Given the description of an element on the screen output the (x, y) to click on. 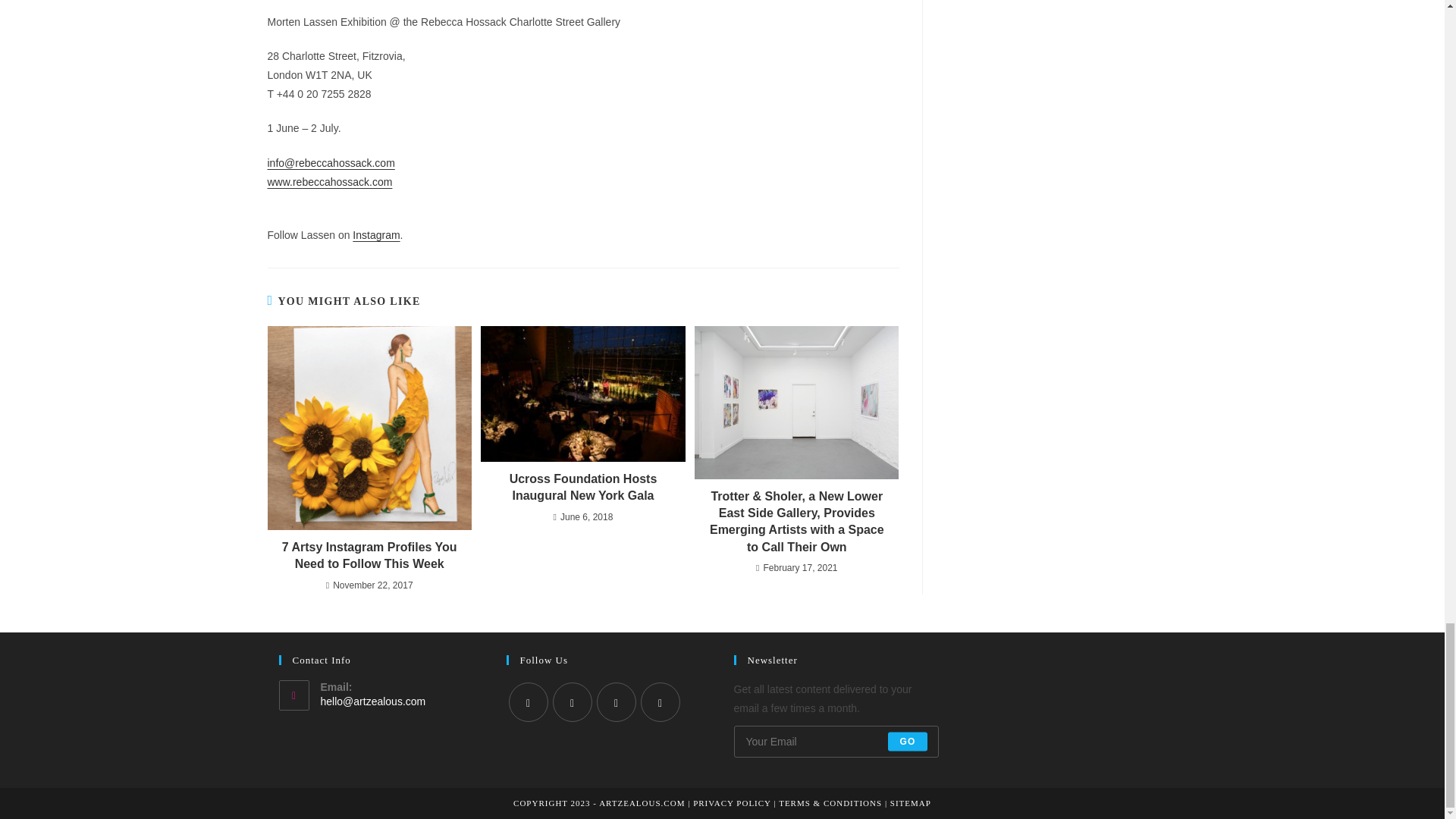
Ucross Foundation Hosts Inaugural New York Gala (582, 487)
Instagram (375, 234)
www.rebeccahossack.com (328, 182)
7 Artsy Instagram Profiles You Need to Follow This Week (368, 555)
